Given the description of an element on the screen output the (x, y) to click on. 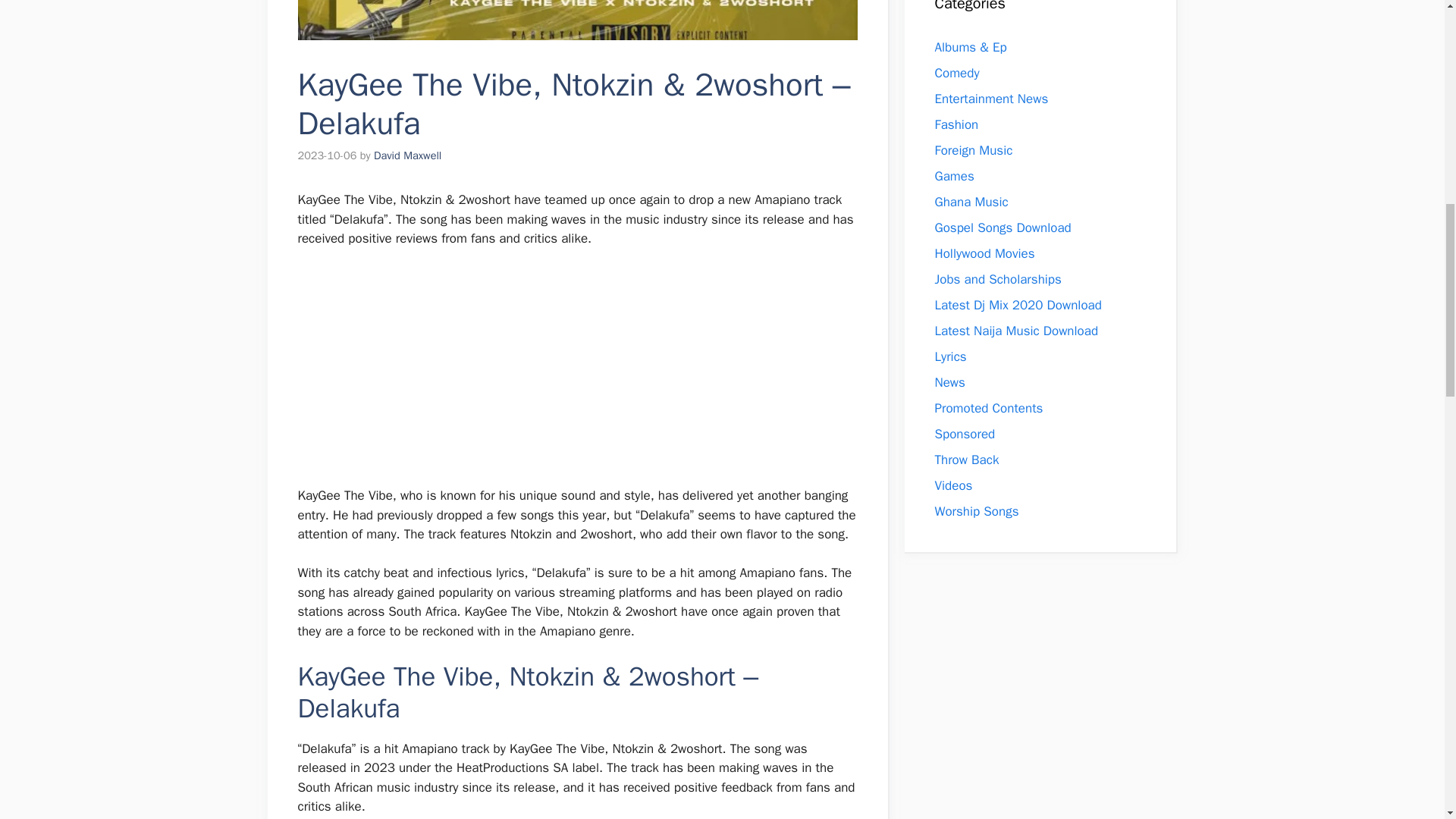
Games (954, 176)
Fashion (956, 124)
Latest Dj Mix 2020 Download (1017, 304)
Latest Naija Music Download (1015, 330)
Jobs and Scholarships (997, 279)
Hollywood Movies (983, 253)
Ghana Music (970, 201)
David Maxwell (407, 155)
Foreign Music (972, 150)
View all posts by David Maxwell (407, 155)
Advertisement (569, 373)
Gospel Songs Download (1002, 227)
Comedy (956, 73)
Entertainment News (991, 98)
